Given the description of an element on the screen output the (x, y) to click on. 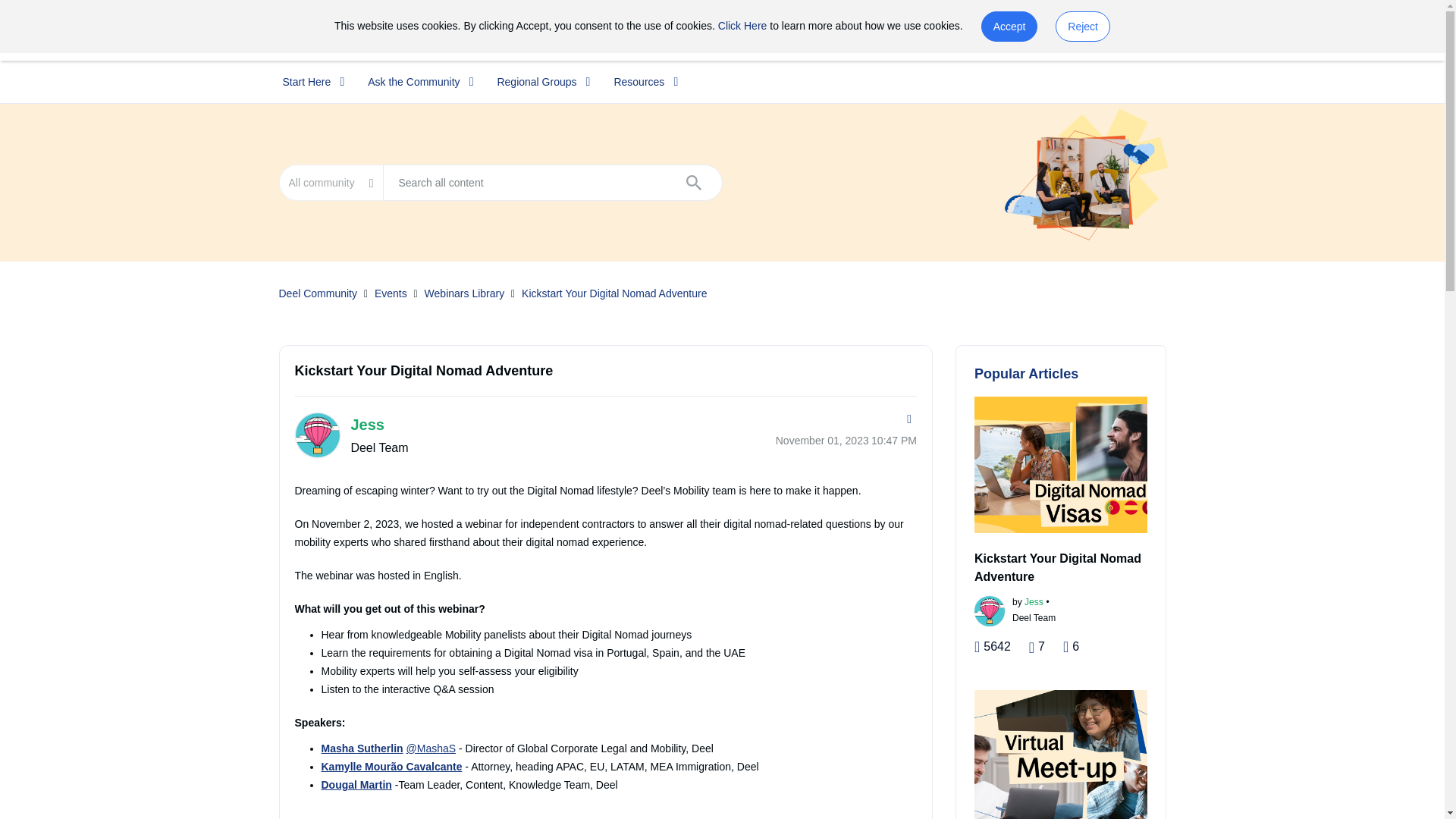
Jess (316, 434)
Start Here (307, 81)
Search (551, 182)
Search (694, 182)
Click Here (742, 25)
Resources (640, 81)
Reject (1082, 26)
Accept (1009, 26)
Search (694, 182)
Sign In (1146, 30)
Ask the Community (415, 81)
Help (1097, 30)
Deel Community (307, 29)
Show option menu (907, 421)
Regional Groups (538, 81)
